Given the description of an element on the screen output the (x, y) to click on. 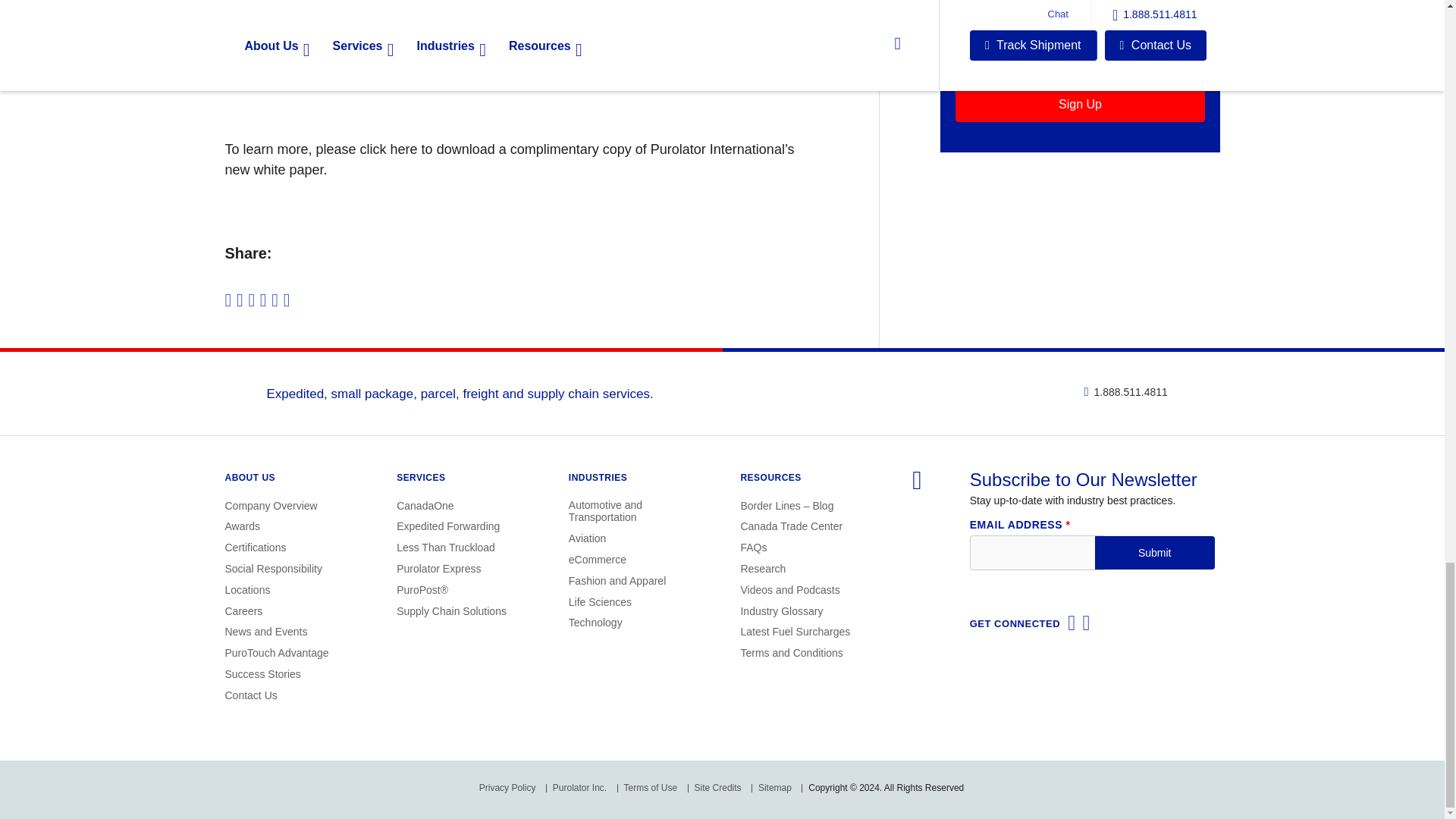
Sign Up (1079, 103)
Submit (1154, 552)
Enter your email (1079, 55)
